Given the description of an element on the screen output the (x, y) to click on. 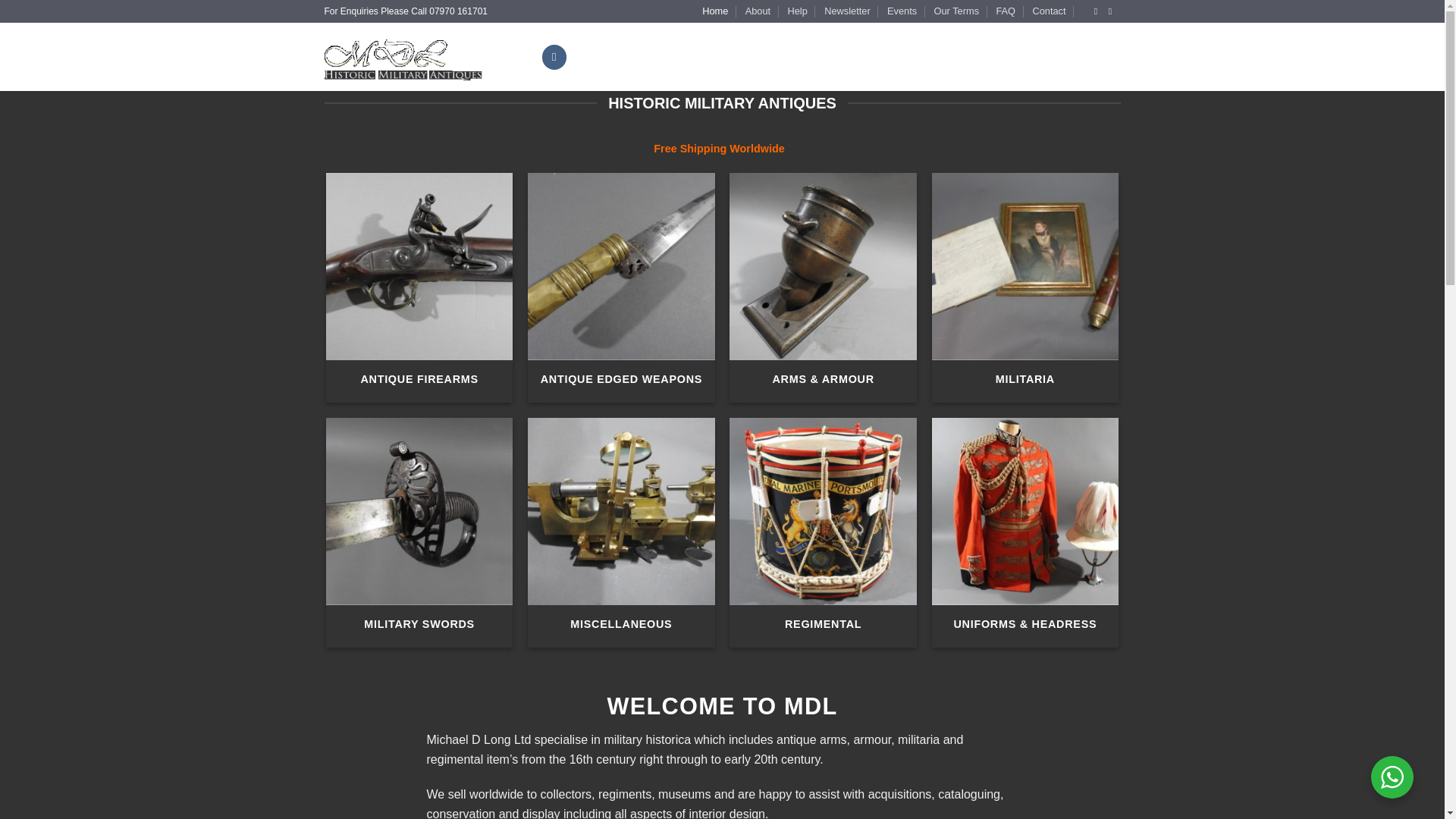
Cart (1074, 57)
About (757, 11)
Home (714, 11)
VIEW OUR STOCK ITEMS (639, 56)
Newsletter (846, 11)
LOGIN (991, 56)
Our Terms (956, 11)
Events (901, 11)
Contact (1048, 11)
